Given the description of an element on the screen output the (x, y) to click on. 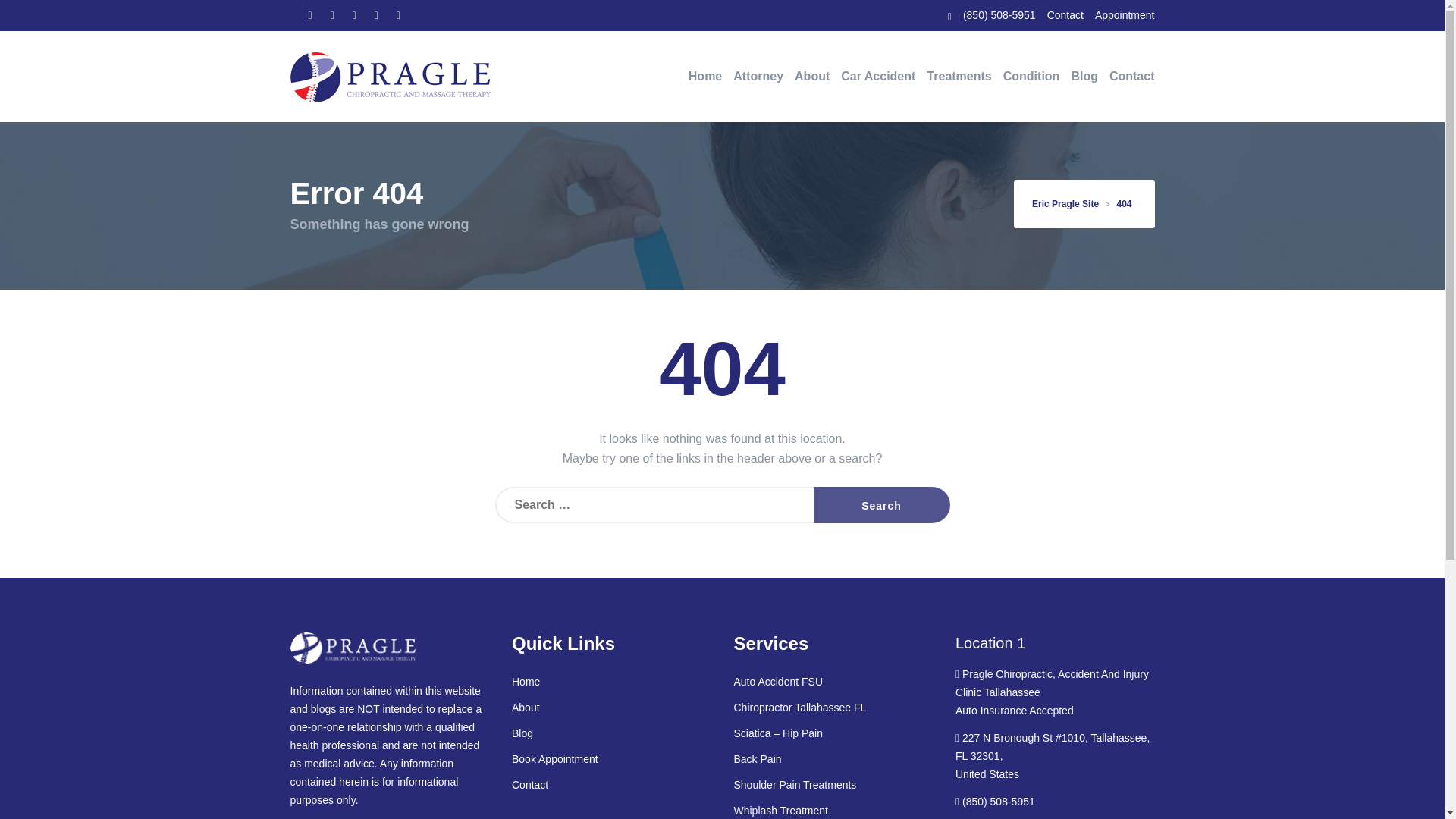
Go to 404. (1123, 204)
Search (880, 504)
Search (880, 504)
Treatments (958, 75)
Appointment (1124, 15)
About (811, 75)
Home (705, 75)
Contact (1064, 15)
Car Accident (878, 75)
Go to Eric Pragle Site. (1067, 204)
Attorney (758, 75)
